Given the description of an element on the screen output the (x, y) to click on. 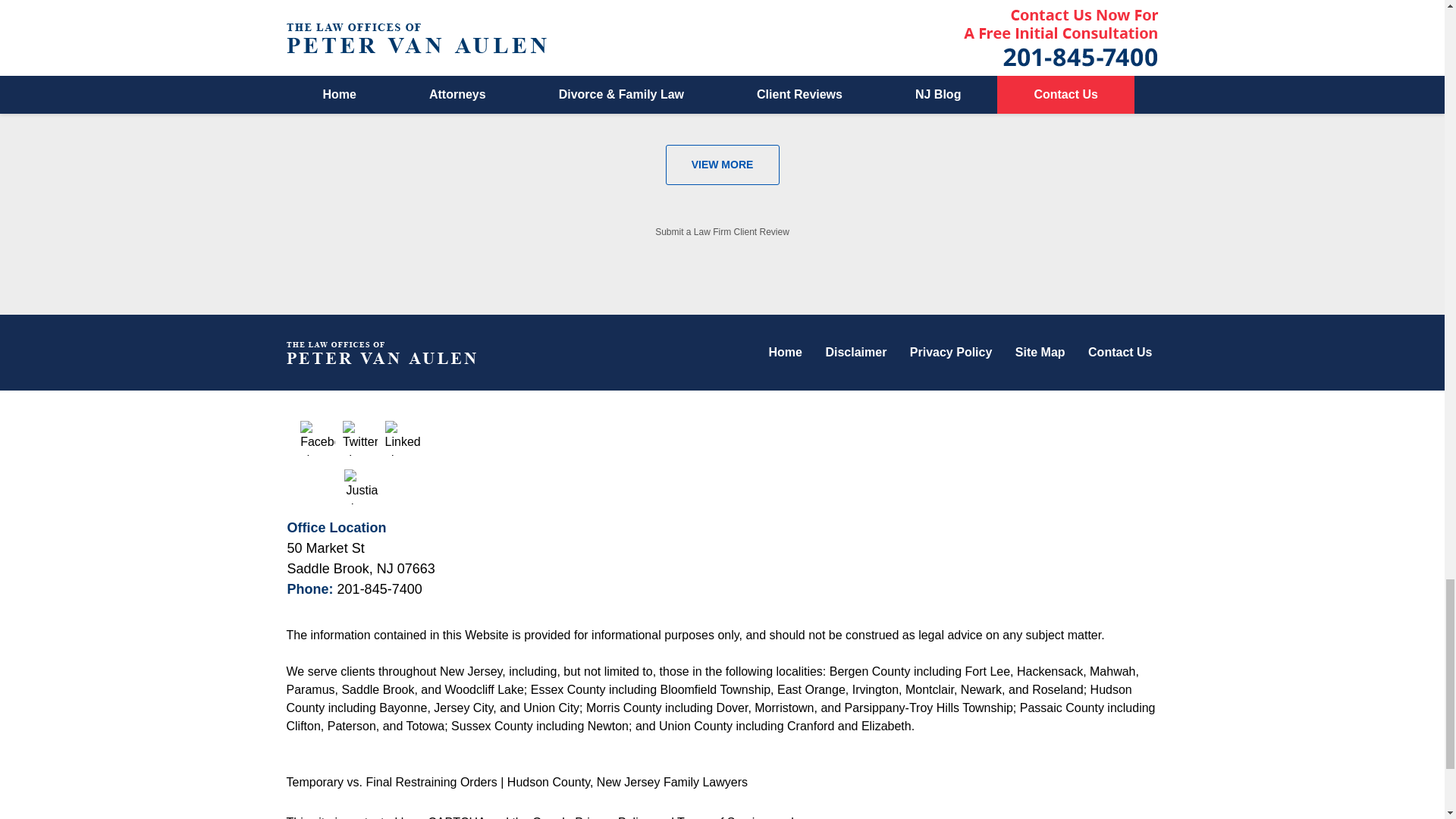
Facebook (316, 437)
Justia (360, 486)
VIEW MORE (721, 164)
LinkedIn (402, 437)
Twitter (359, 437)
